Given the description of an element on the screen output the (x, y) to click on. 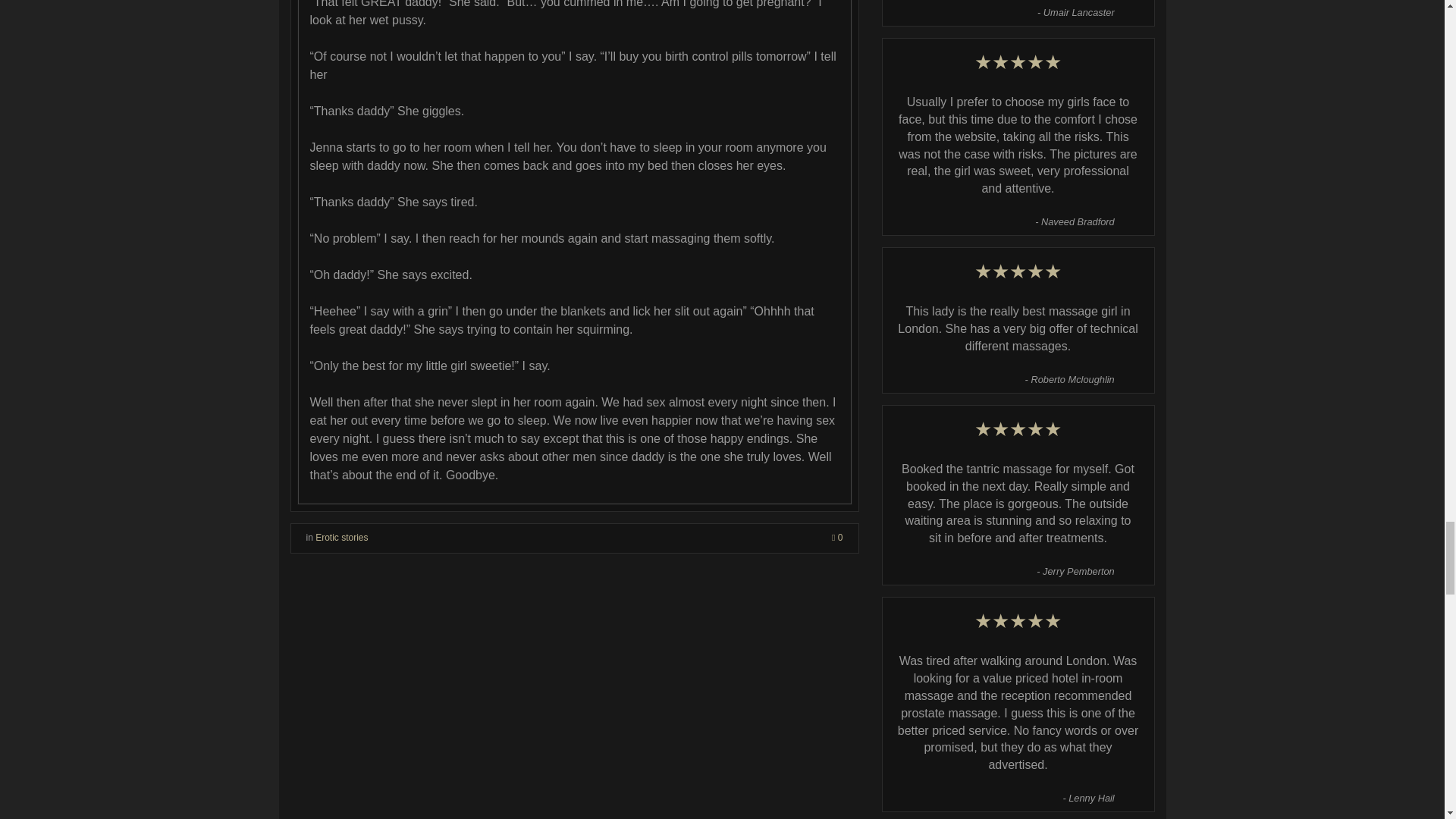
Erotic stories (341, 537)
0 (837, 537)
